Given the description of an element on the screen output the (x, y) to click on. 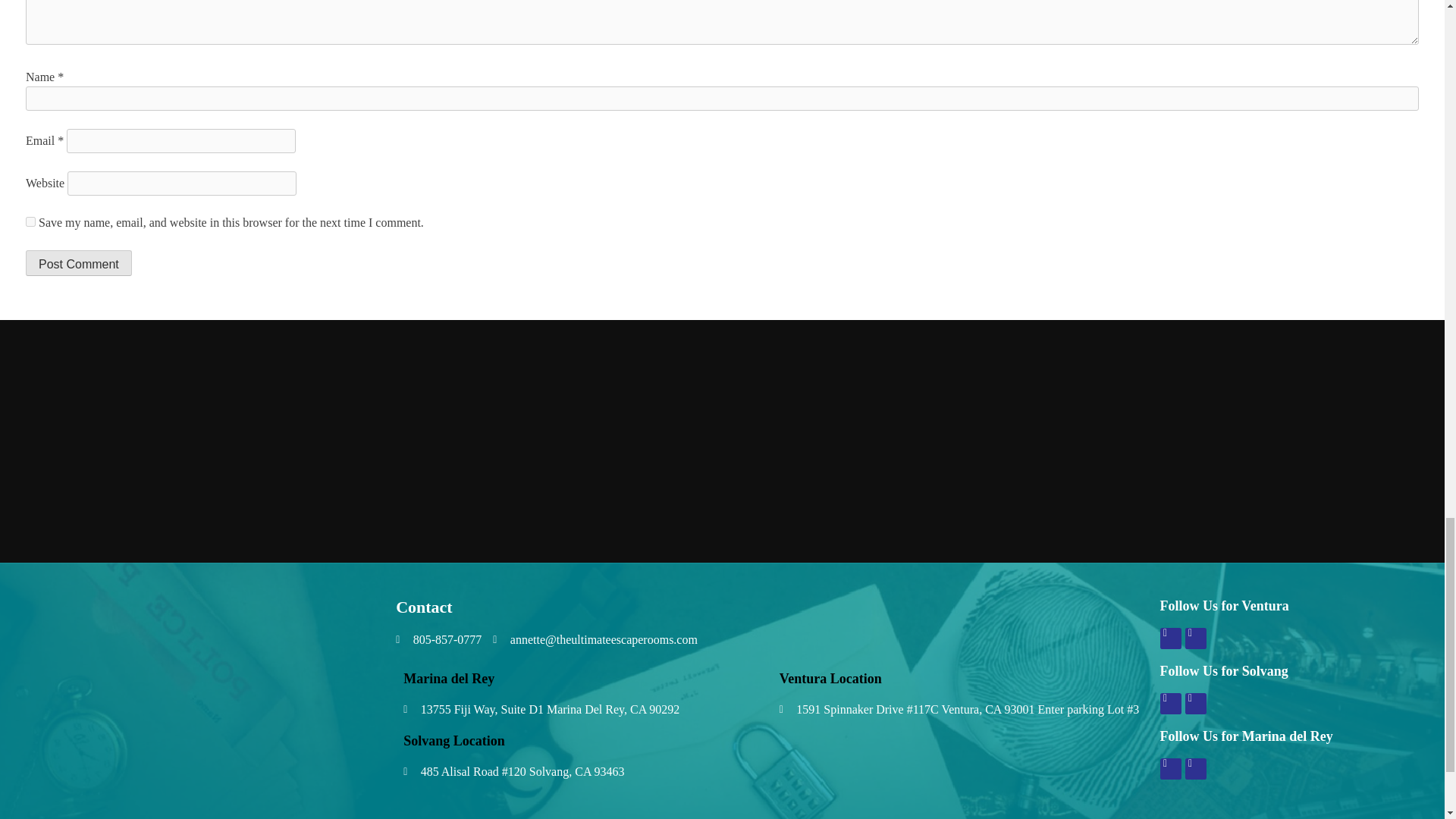
Post Comment (79, 263)
Post Comment (79, 263)
yes (30, 221)
